Given the description of an element on the screen output the (x, y) to click on. 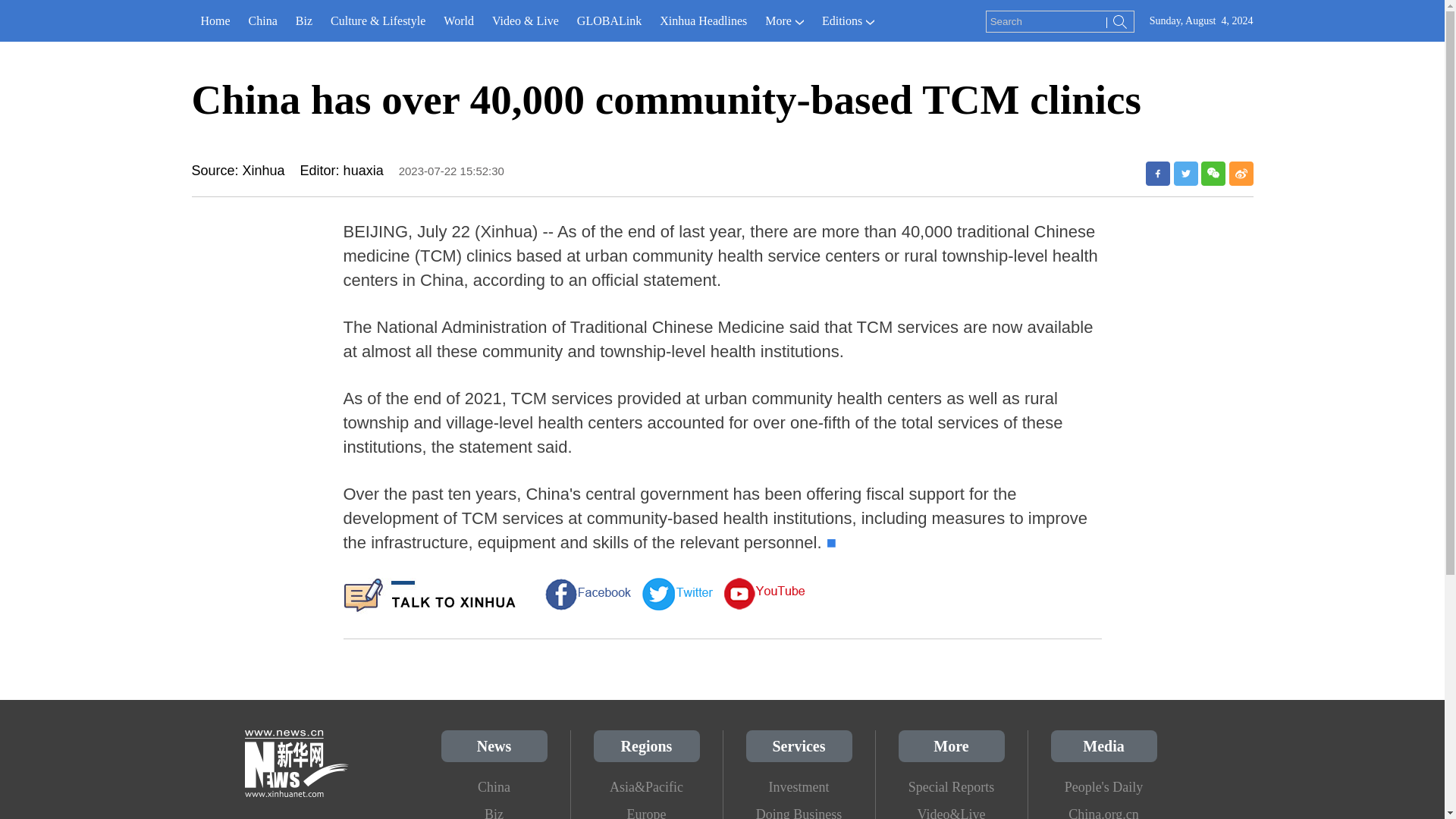
World (458, 20)
Editions (847, 20)
Biz (303, 20)
More (783, 20)
Home (214, 20)
GLOBALink (608, 20)
China (263, 20)
Xinhua Headlines (702, 20)
